Given the description of an element on the screen output the (x, y) to click on. 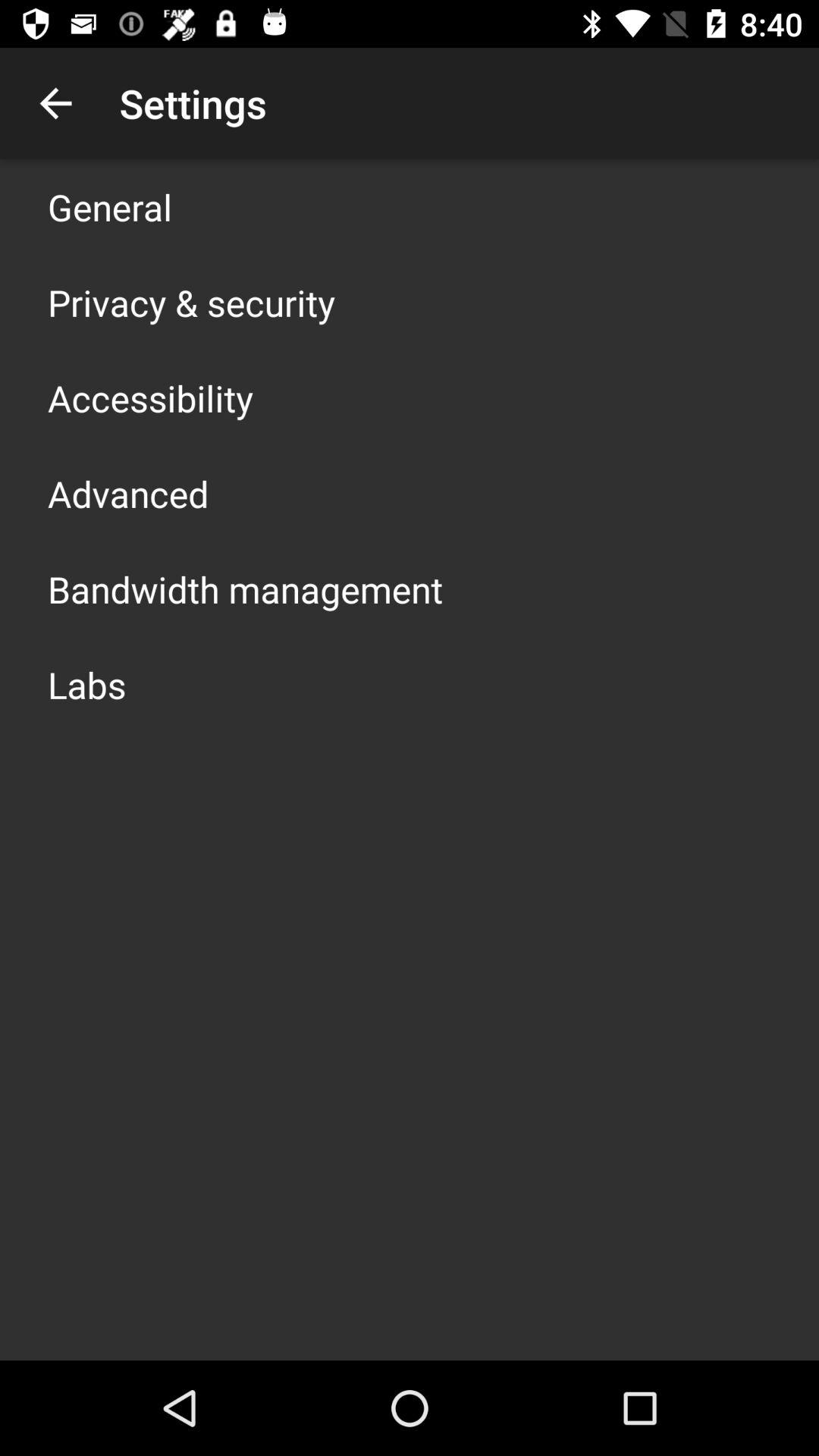
select advanced app (127, 493)
